Given the description of an element on the screen output the (x, y) to click on. 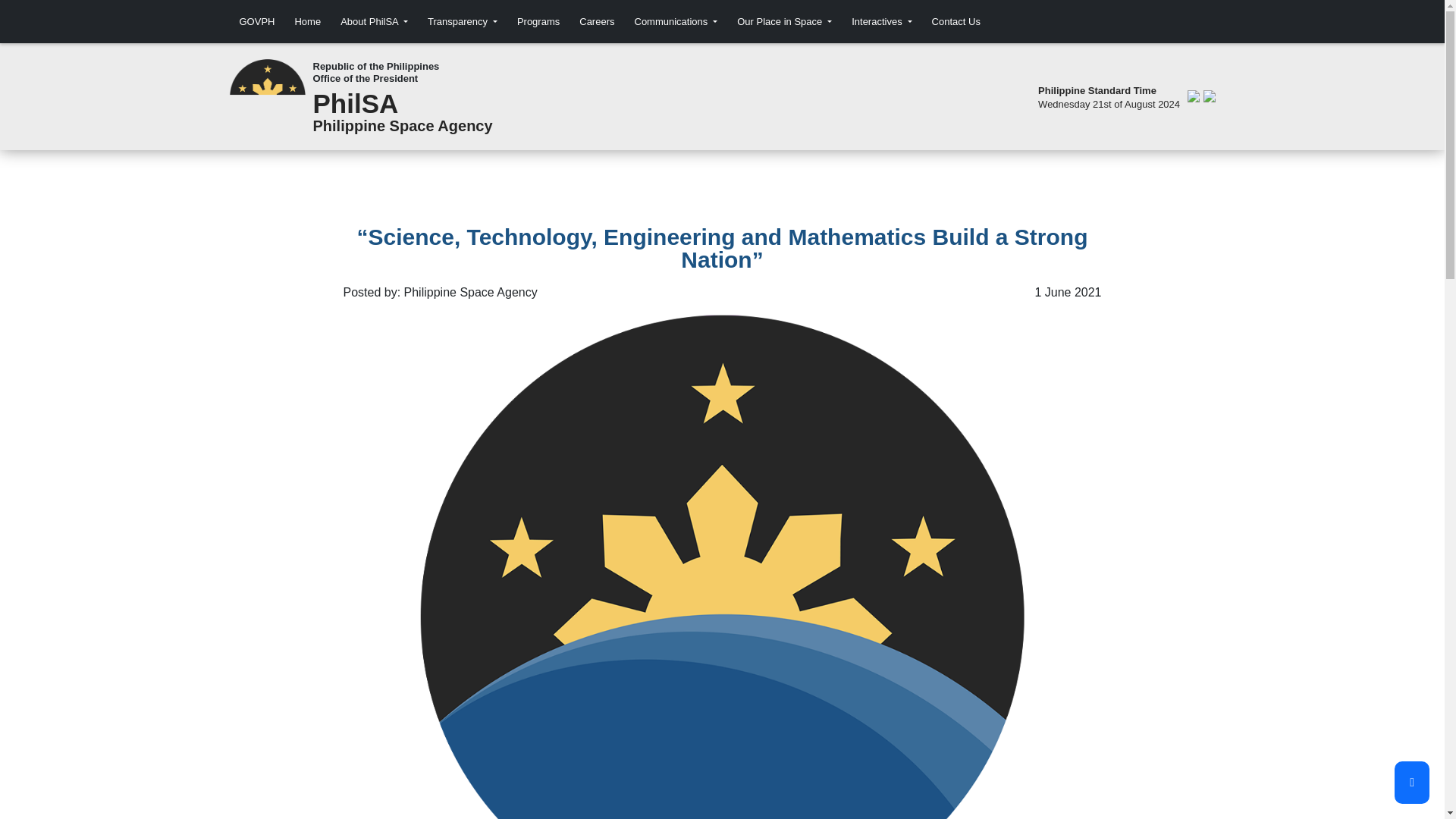
Careers (596, 21)
Transparency (462, 21)
About PhilSA (373, 21)
GOVPH (256, 21)
Communications (675, 21)
Our Place in Space (784, 21)
Home (307, 21)
Programs (538, 21)
